Given the description of an element on the screen output the (x, y) to click on. 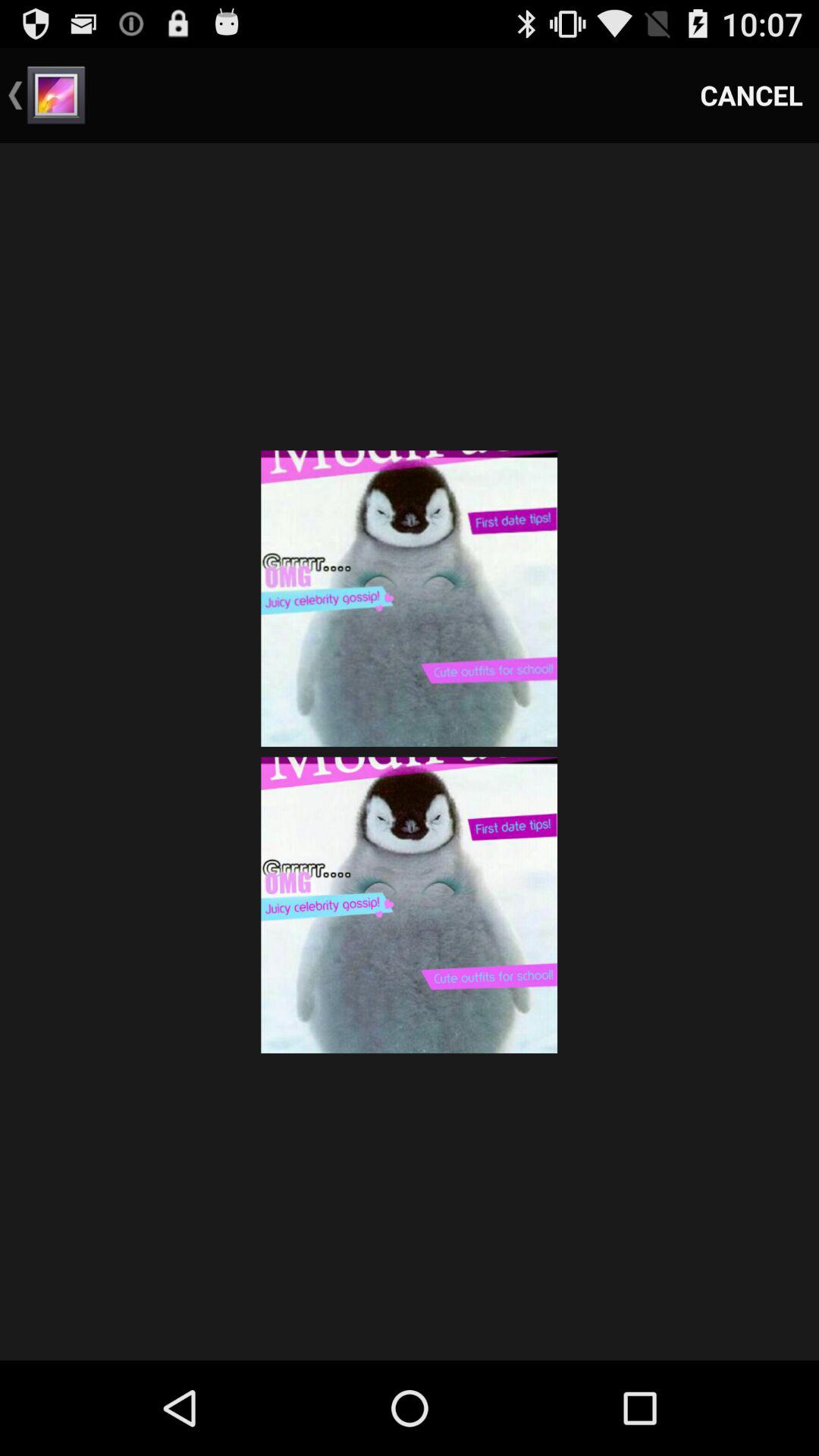
open cancel at the top right corner (751, 95)
